Given the description of an element on the screen output the (x, y) to click on. 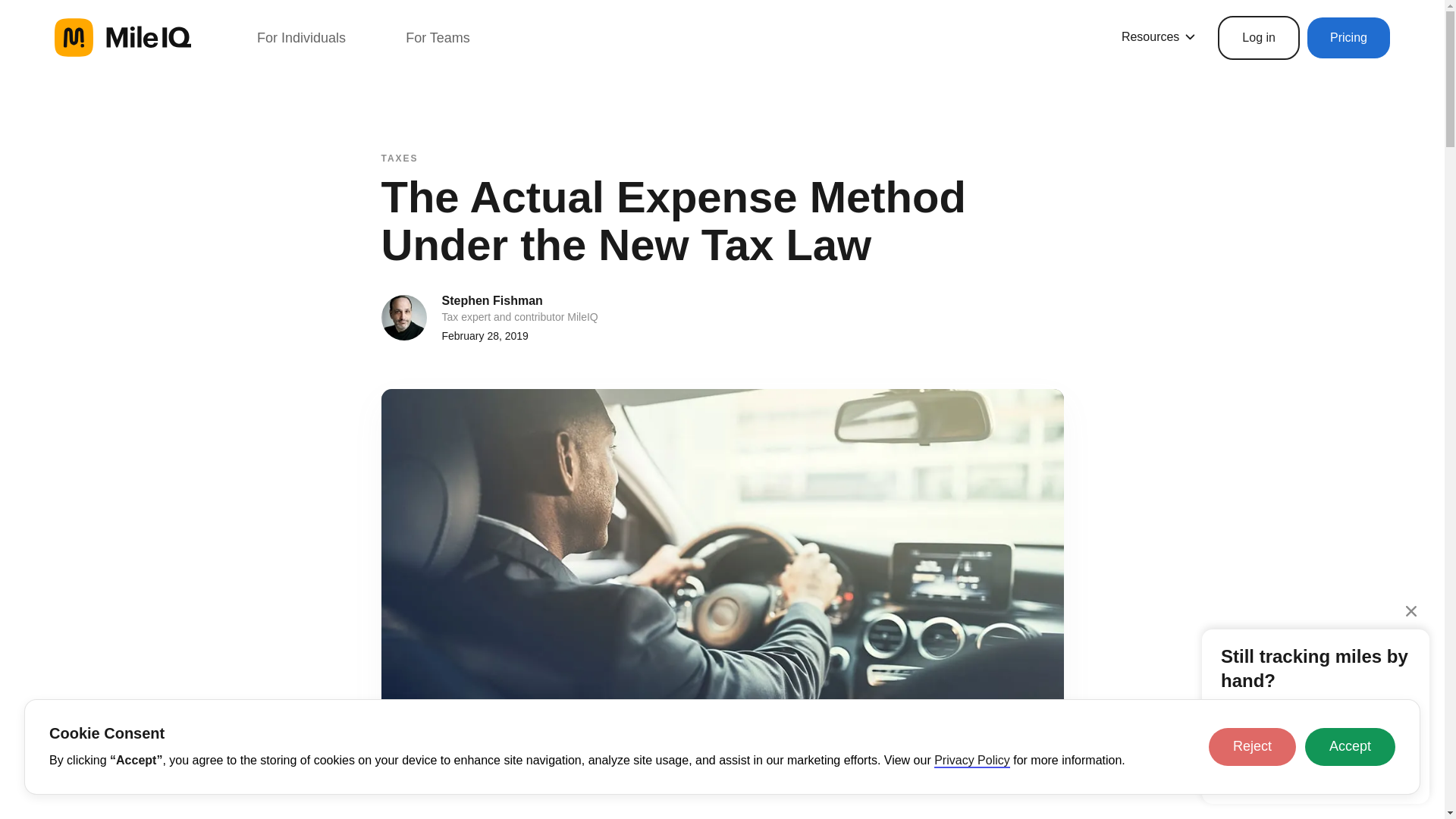
Resources (1158, 37)
Reject (1251, 746)
Privacy Policy (972, 760)
For Teams (437, 37)
For Individuals (300, 37)
Log in (1258, 37)
Search (30, 15)
Pricing (1348, 37)
Accept (1349, 746)
